Given the description of an element on the screen output the (x, y) to click on. 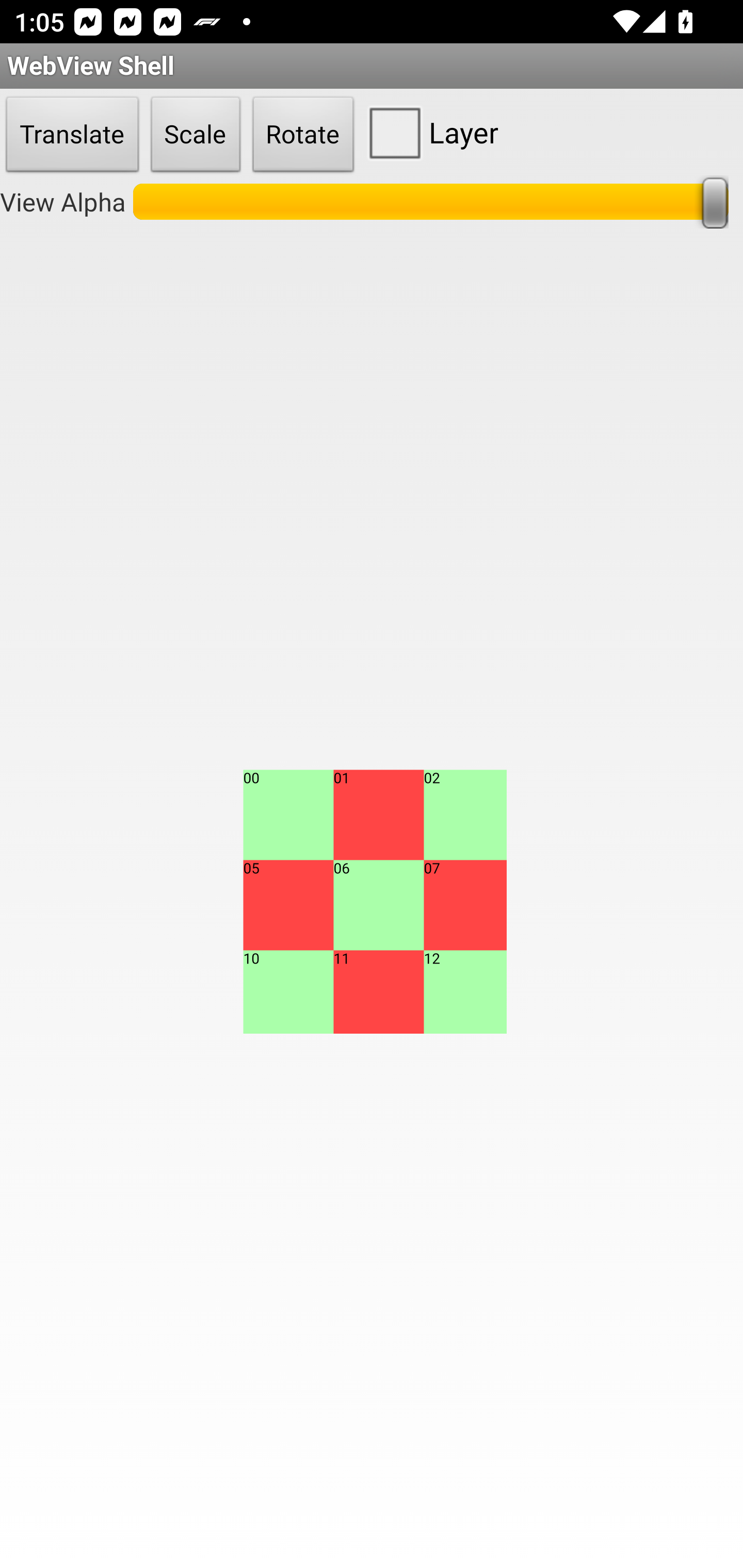
Layer (429, 132)
Translate (72, 135)
Scale (195, 135)
Rotate (303, 135)
